Given the description of an element on the screen output the (x, y) to click on. 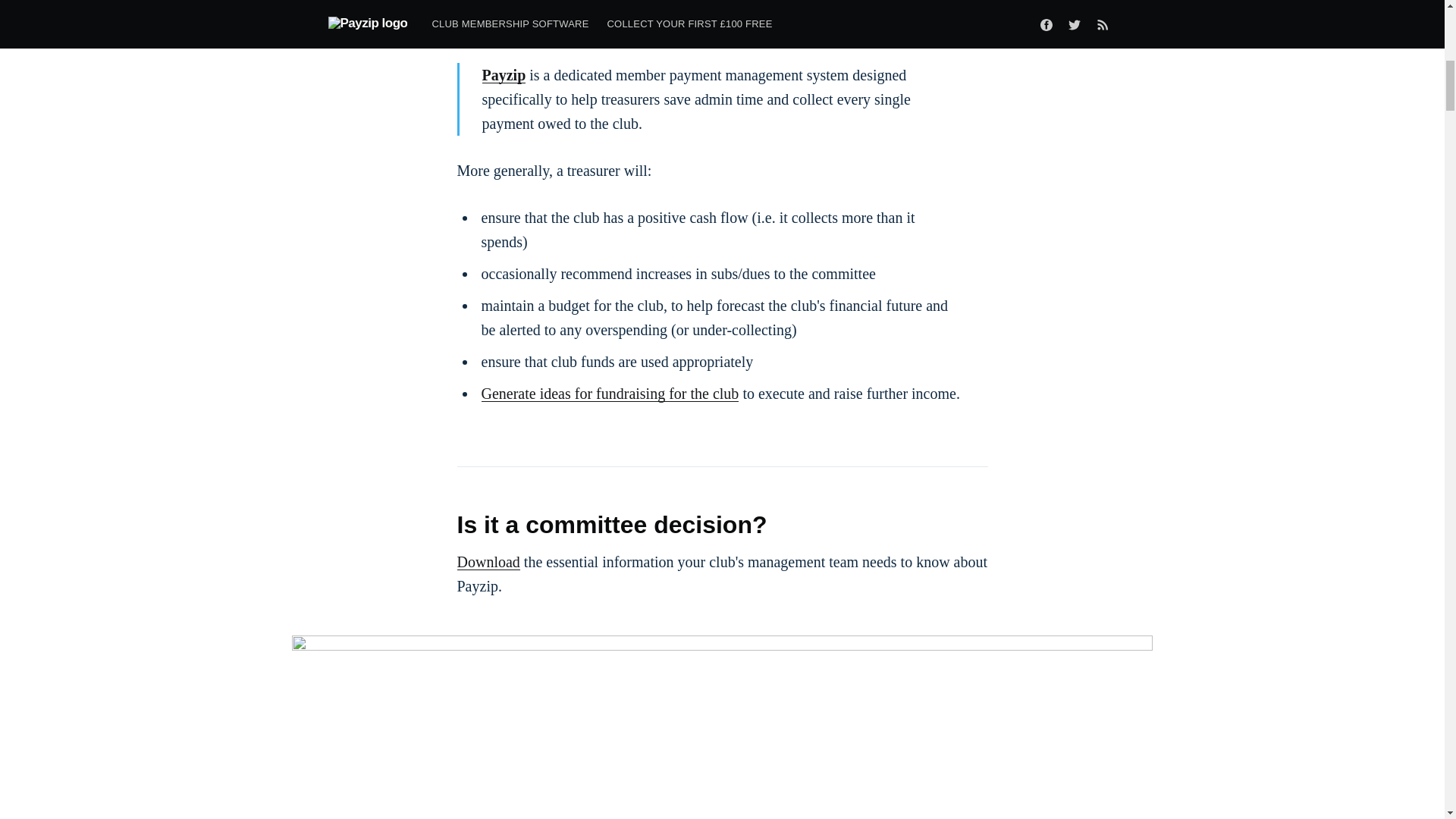
Payzip (503, 74)
Generate ideas for fundraising for the club (609, 393)
Download (488, 561)
